Given the description of an element on the screen output the (x, y) to click on. 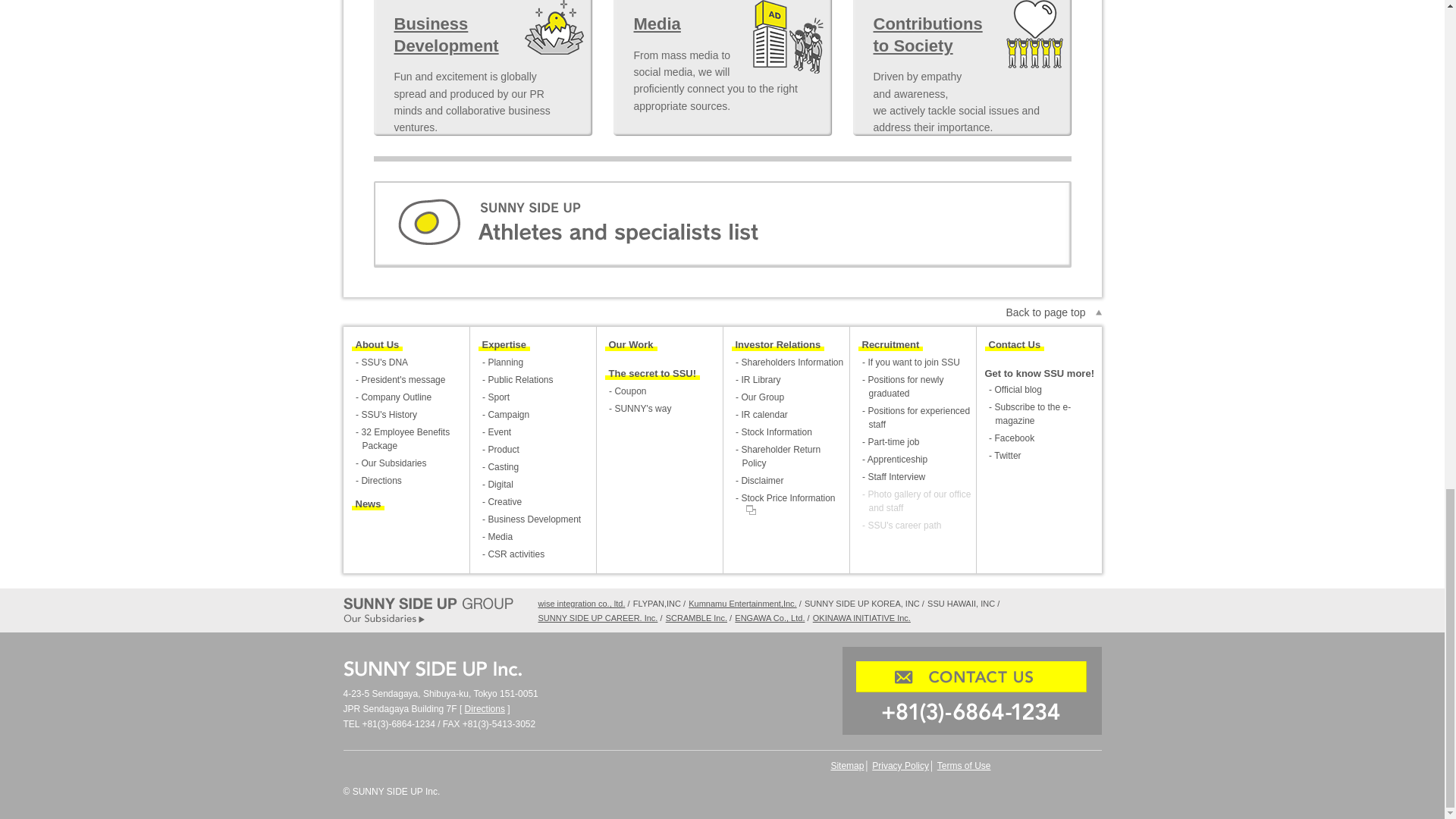
SUNNY SIDE UP Inc. (431, 668)
SUNNY SIDE UP GROUP (427, 603)
